Given the description of an element on the screen output the (x, y) to click on. 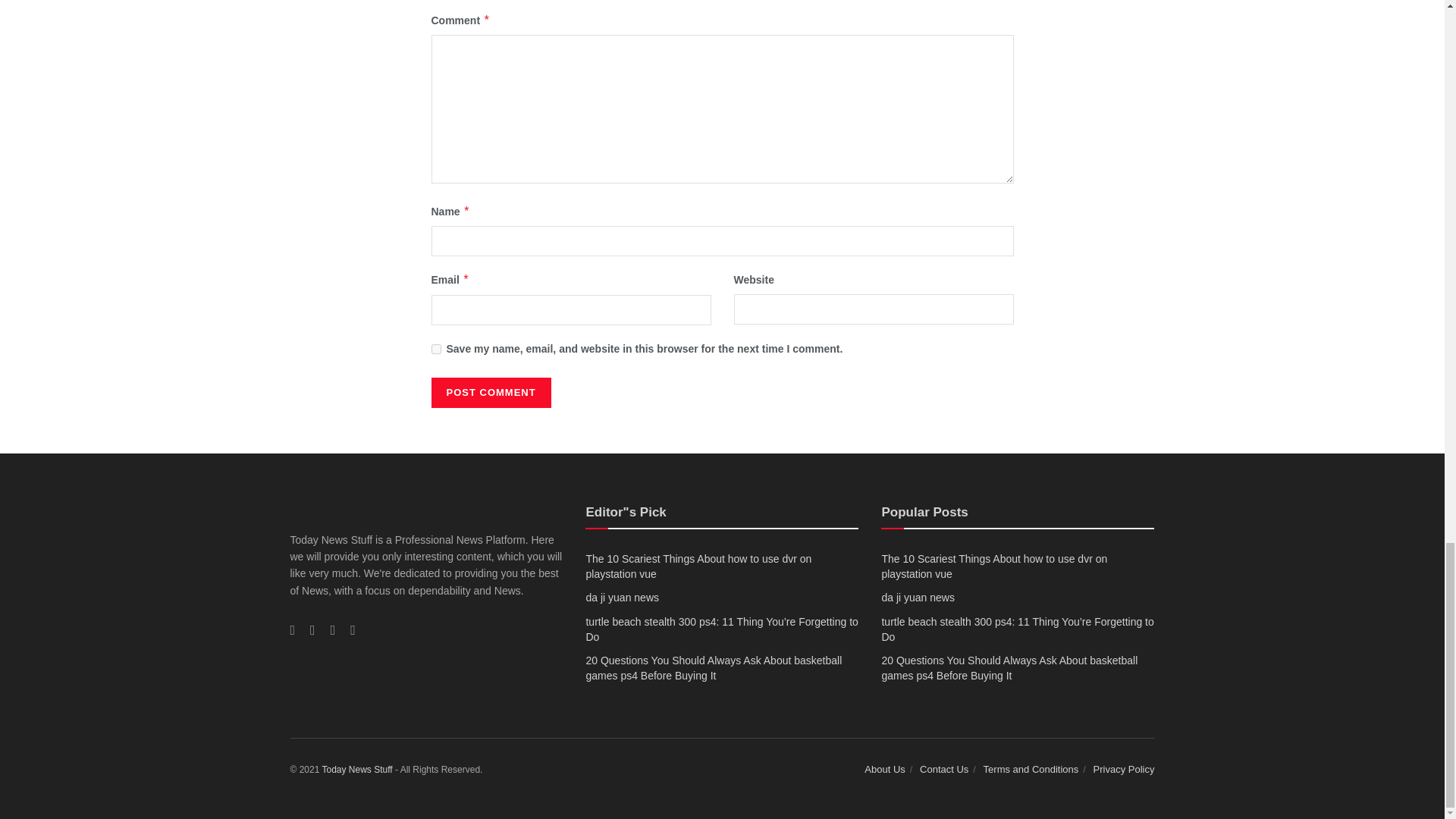
yes (435, 348)
Post Comment (490, 392)
